Given the description of an element on the screen output the (x, y) to click on. 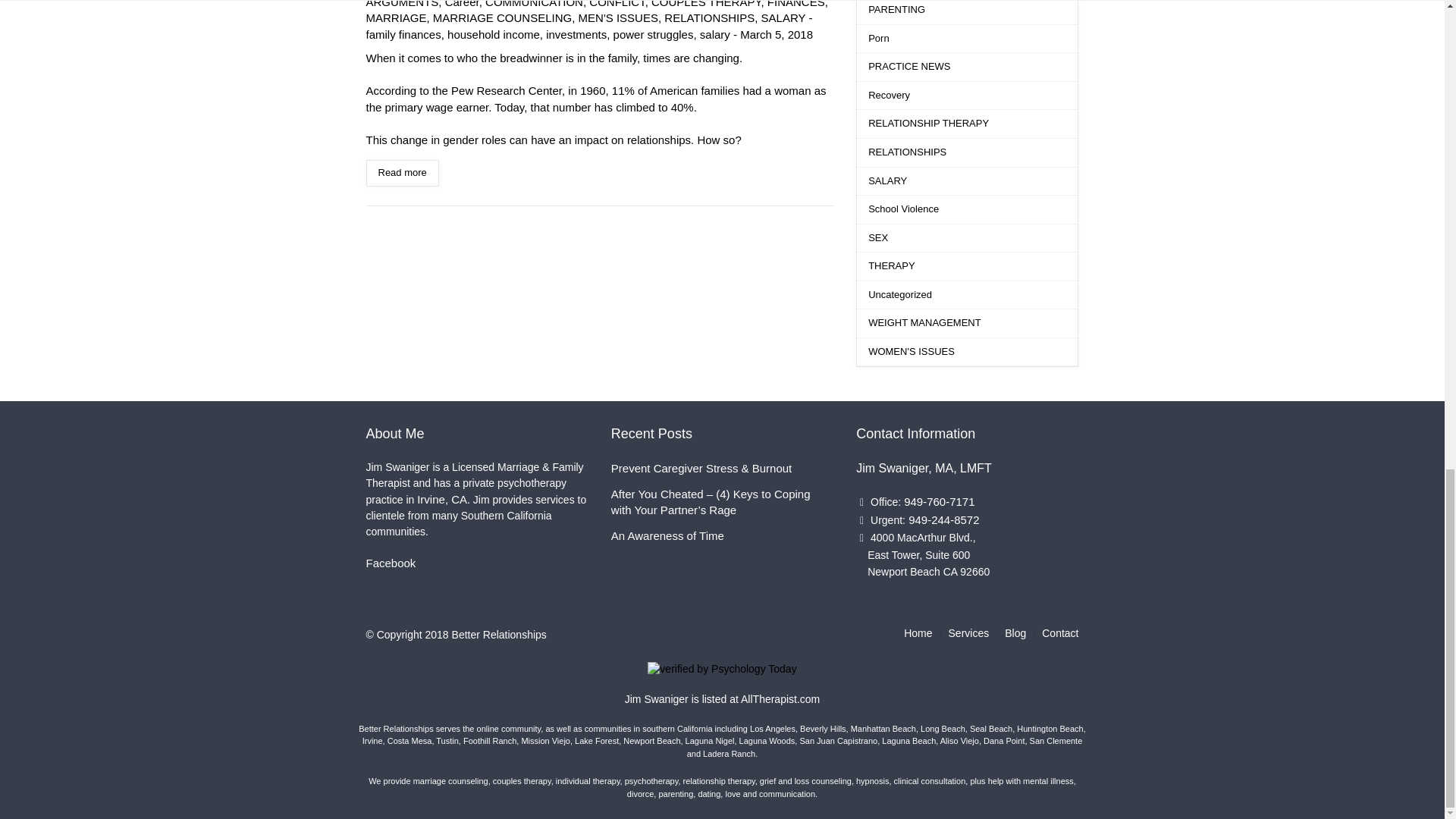
verified by Psychology Today (721, 668)
8:44 PM (775, 33)
